Given the description of an element on the screen output the (x, y) to click on. 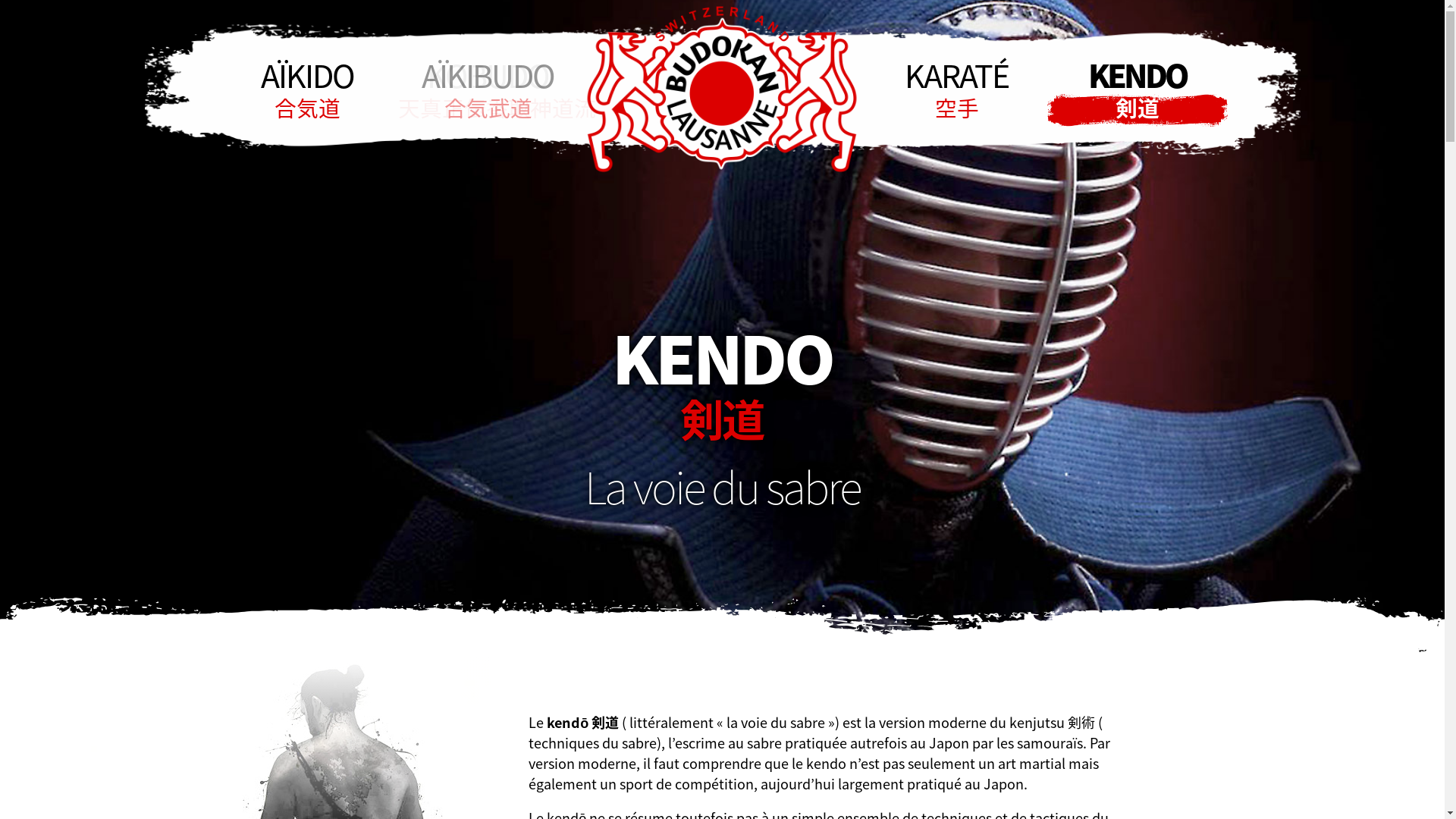
KENDO Element type: text (1136, 89)
